Given the description of an element on the screen output the (x, y) to click on. 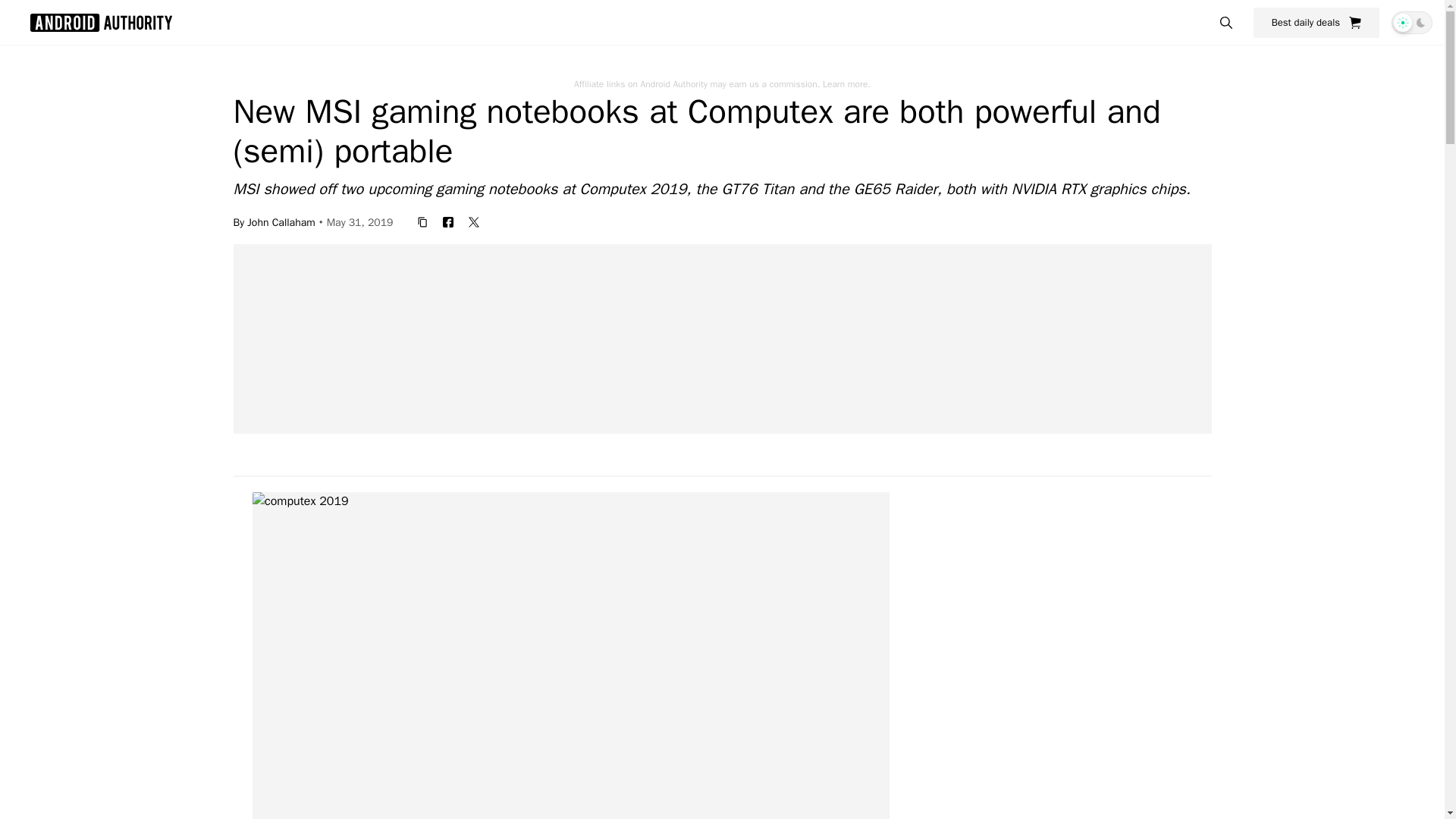
facebook (448, 222)
twitter (473, 222)
Best daily deals (1315, 22)
Learn more. (846, 83)
John Callaham (280, 221)
